Given the description of an element on the screen output the (x, y) to click on. 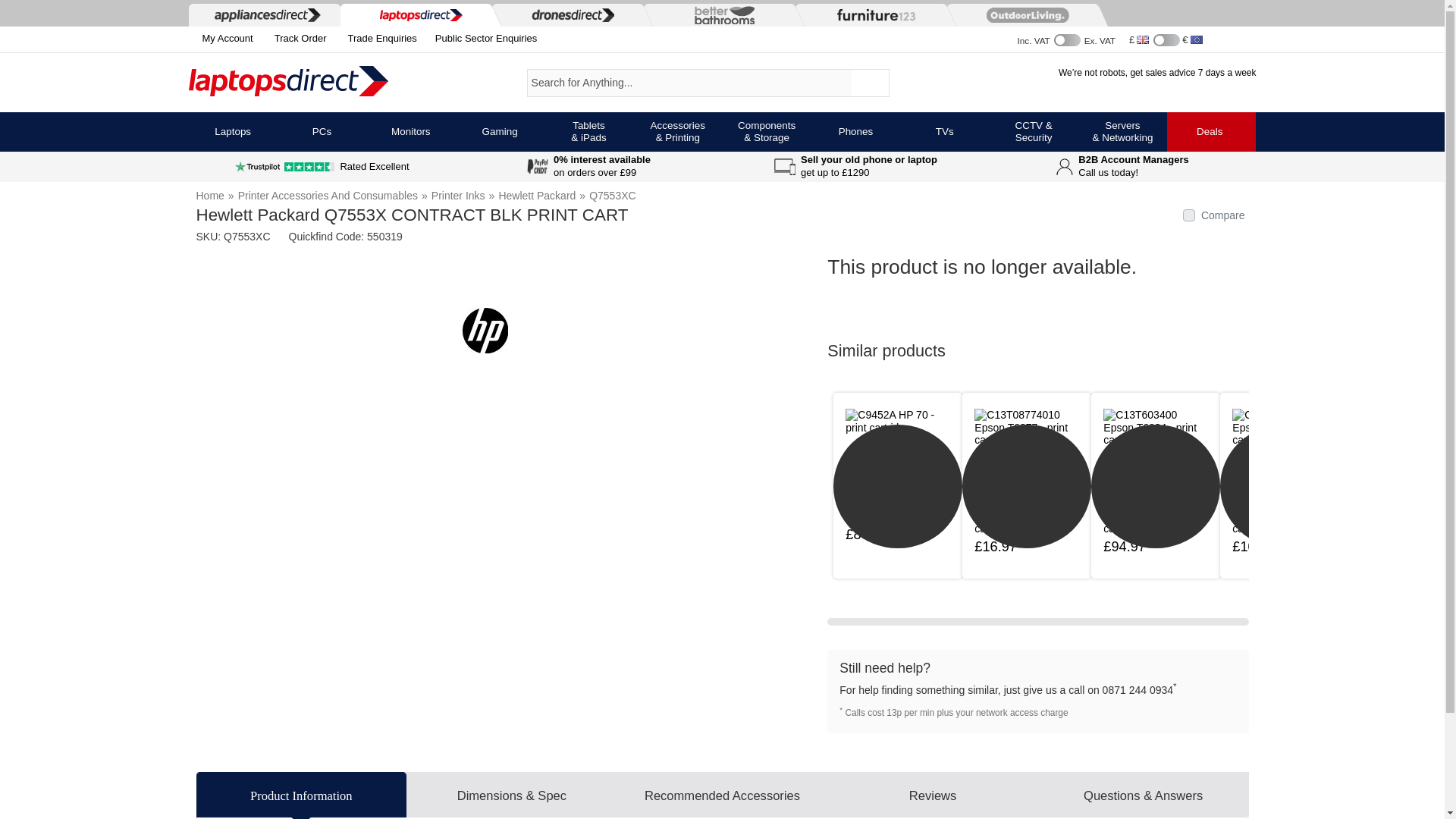
My Account (219, 38)
Trade Enquiries (379, 38)
Trade Enquiries (379, 38)
Outdoor Living (1024, 14)
Public Sector Enquiries (483, 38)
Laptops (231, 131)
Your basket contains (1236, 37)
Drones Direct (569, 14)
Laptops Direct (417, 15)
Track Order (296, 38)
Laptops Direct (312, 82)
Better Bathrooms (720, 15)
Laptops Direct Order Tracking (296, 38)
